Given the description of an element on the screen output the (x, y) to click on. 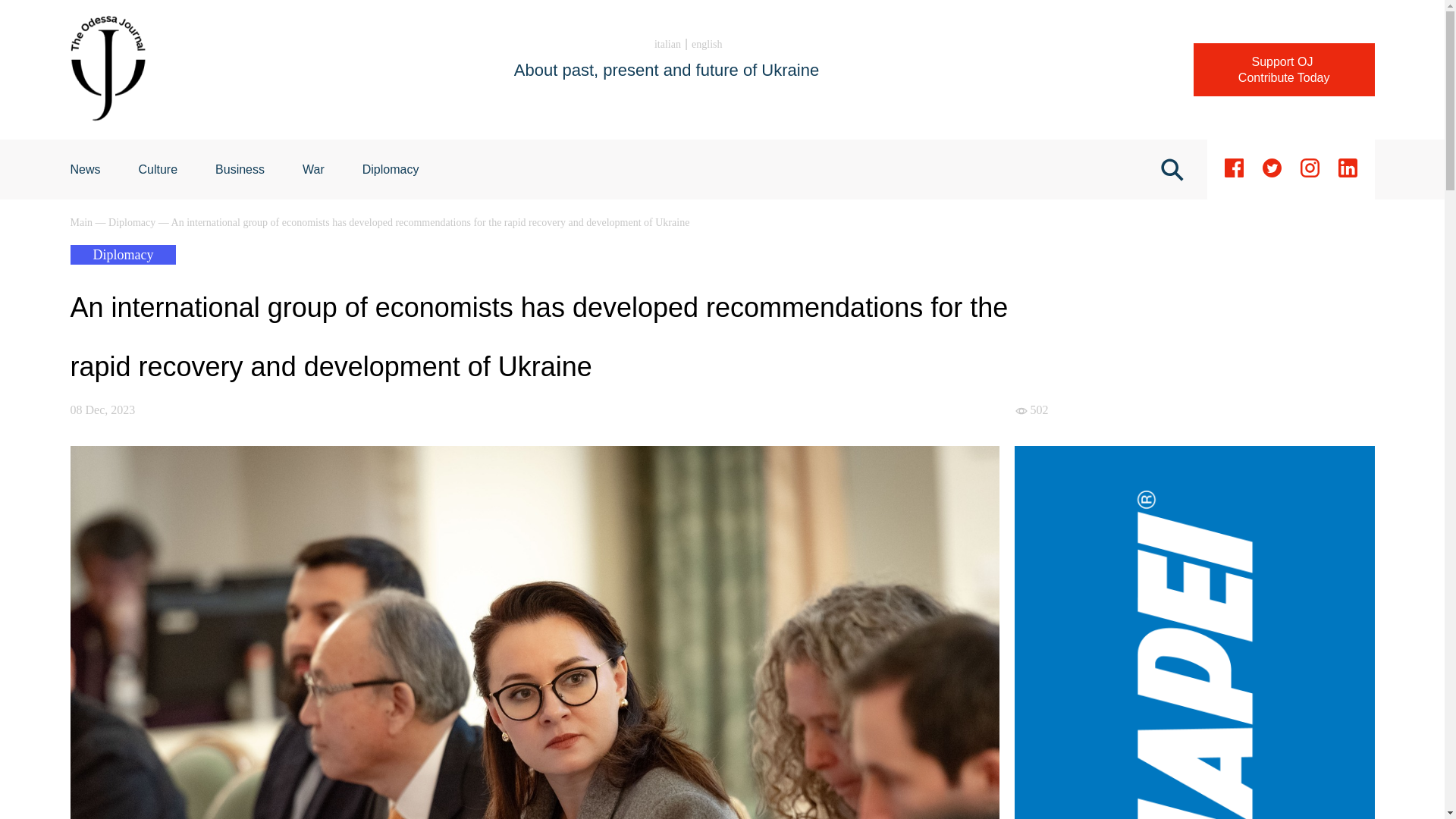
Culture (157, 169)
Business (239, 169)
Diplomacy (390, 169)
Culture (157, 169)
News (84, 169)
english (706, 43)
Diplomacy (132, 222)
italian (667, 43)
Diplomacy (390, 169)
Main (81, 222)
War (313, 169)
War (313, 169)
News (84, 169)
Business (239, 169)
